Given the description of an element on the screen output the (x, y) to click on. 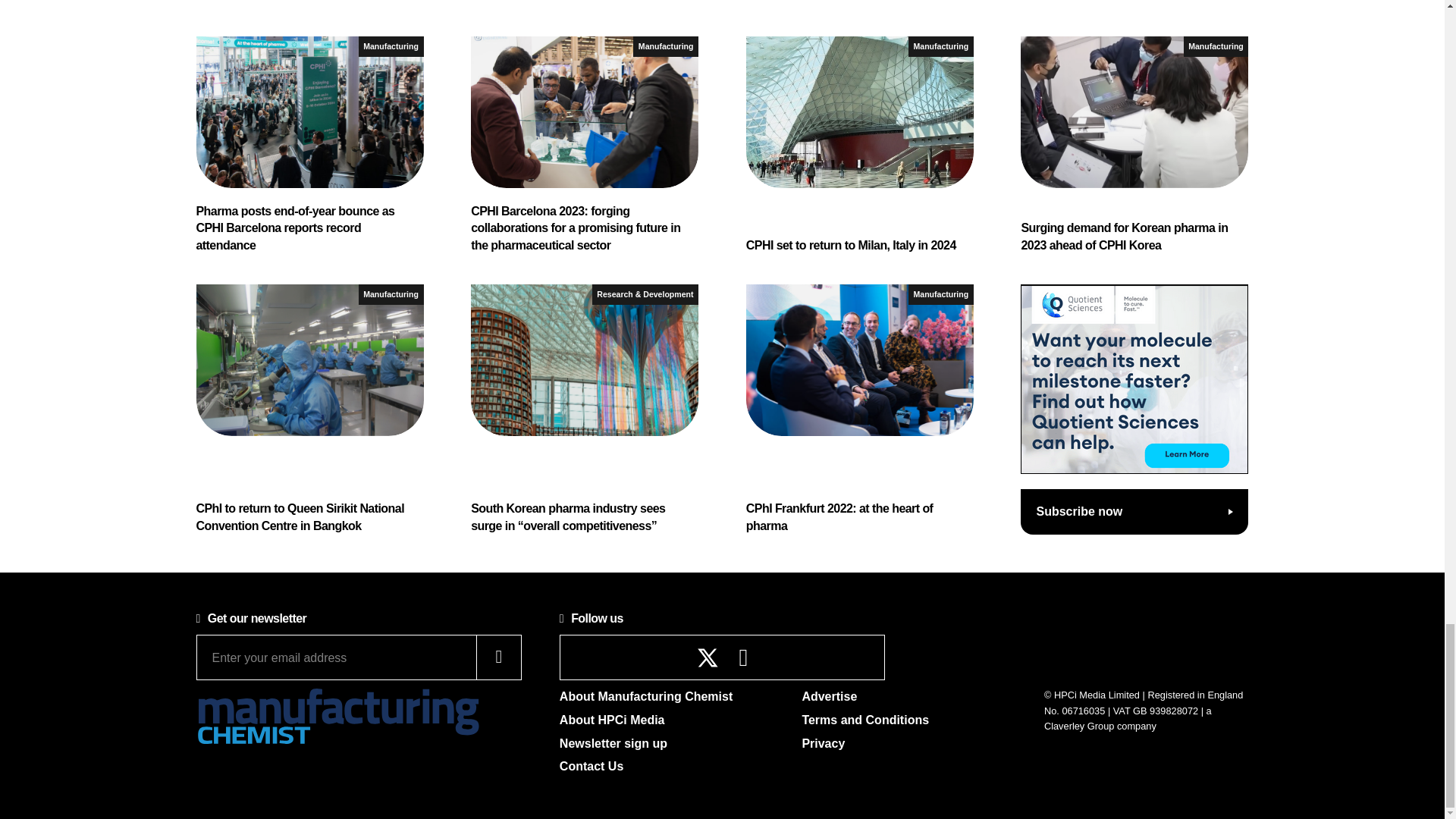
Follow Manufacturing Chemist on X (708, 658)
Manufacturing (390, 46)
